Given the description of an element on the screen output the (x, y) to click on. 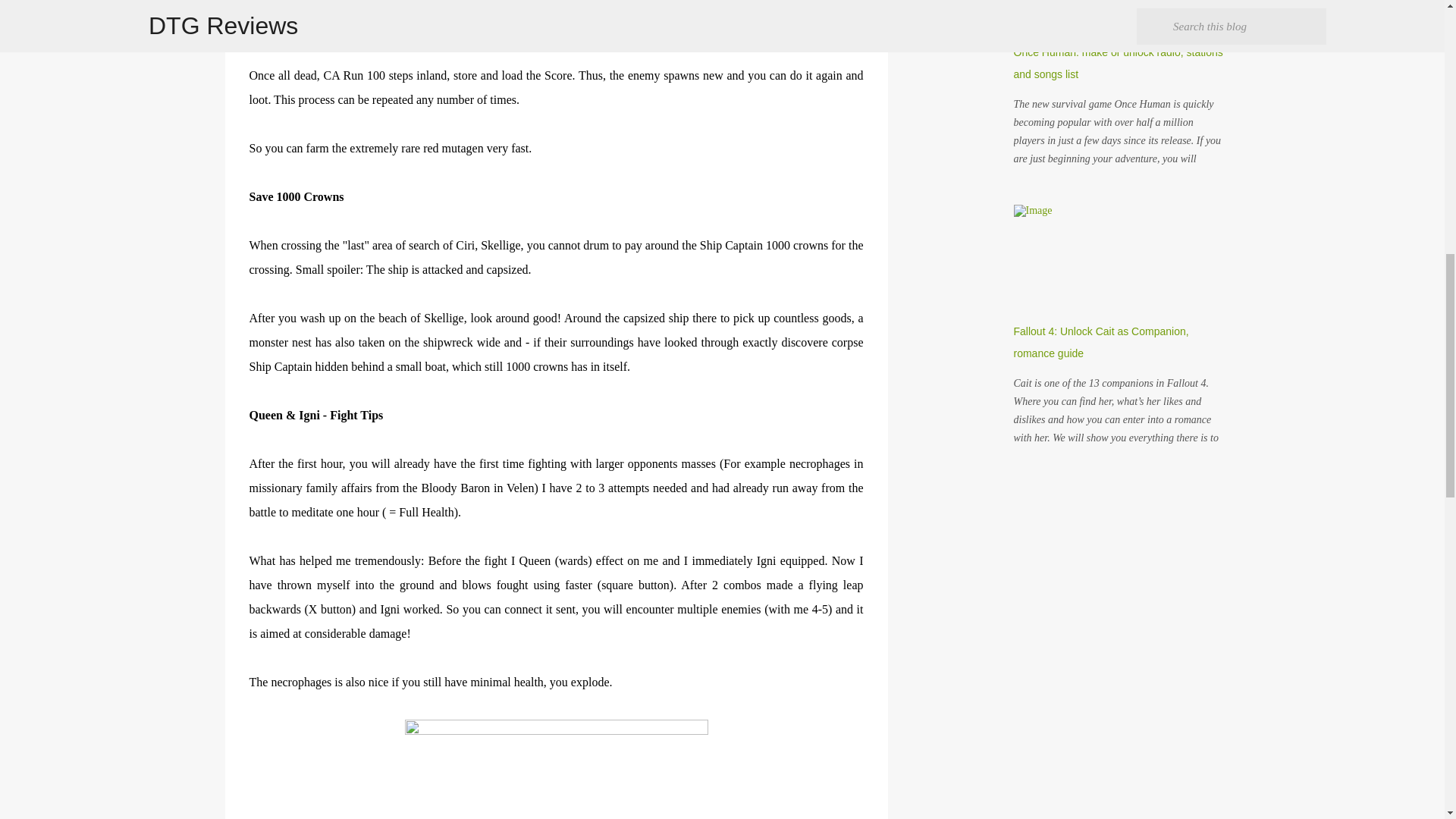
Fallout 4: Unlock Cait as Companion, romance guide (1100, 342)
Once Human: make or unlock radio, stations and songs list (1118, 62)
